Given the description of an element on the screen output the (x, y) to click on. 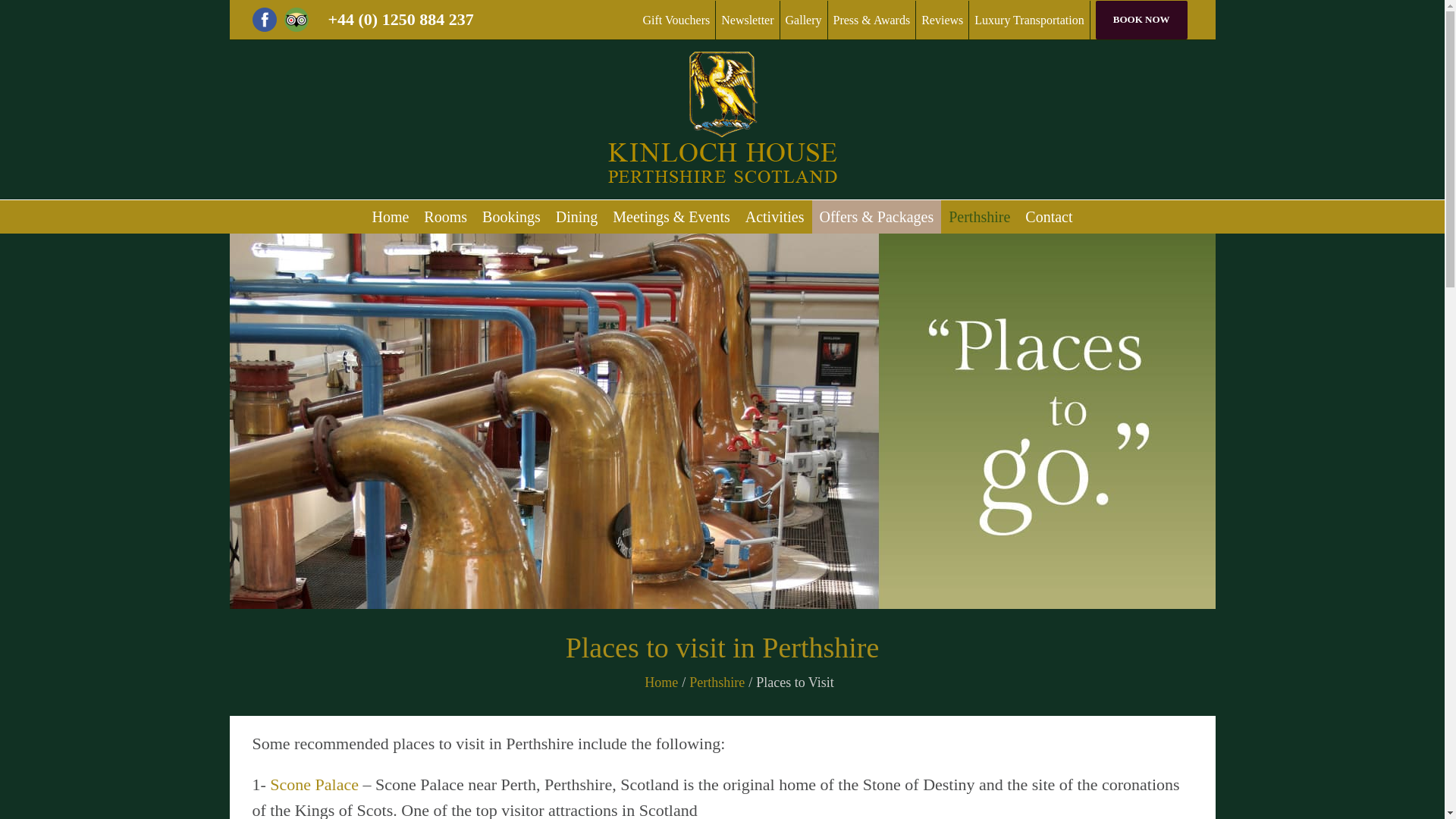
Facebook (263, 19)
Luxury Transportation (1029, 19)
Gallery (803, 19)
Rooms (445, 216)
Dining (577, 216)
TripAdvisor (295, 19)
Gift Vouchers (675, 19)
Activities (775, 216)
TripAdvisor (295, 19)
Newsletter (747, 19)
